Given the description of an element on the screen output the (x, y) to click on. 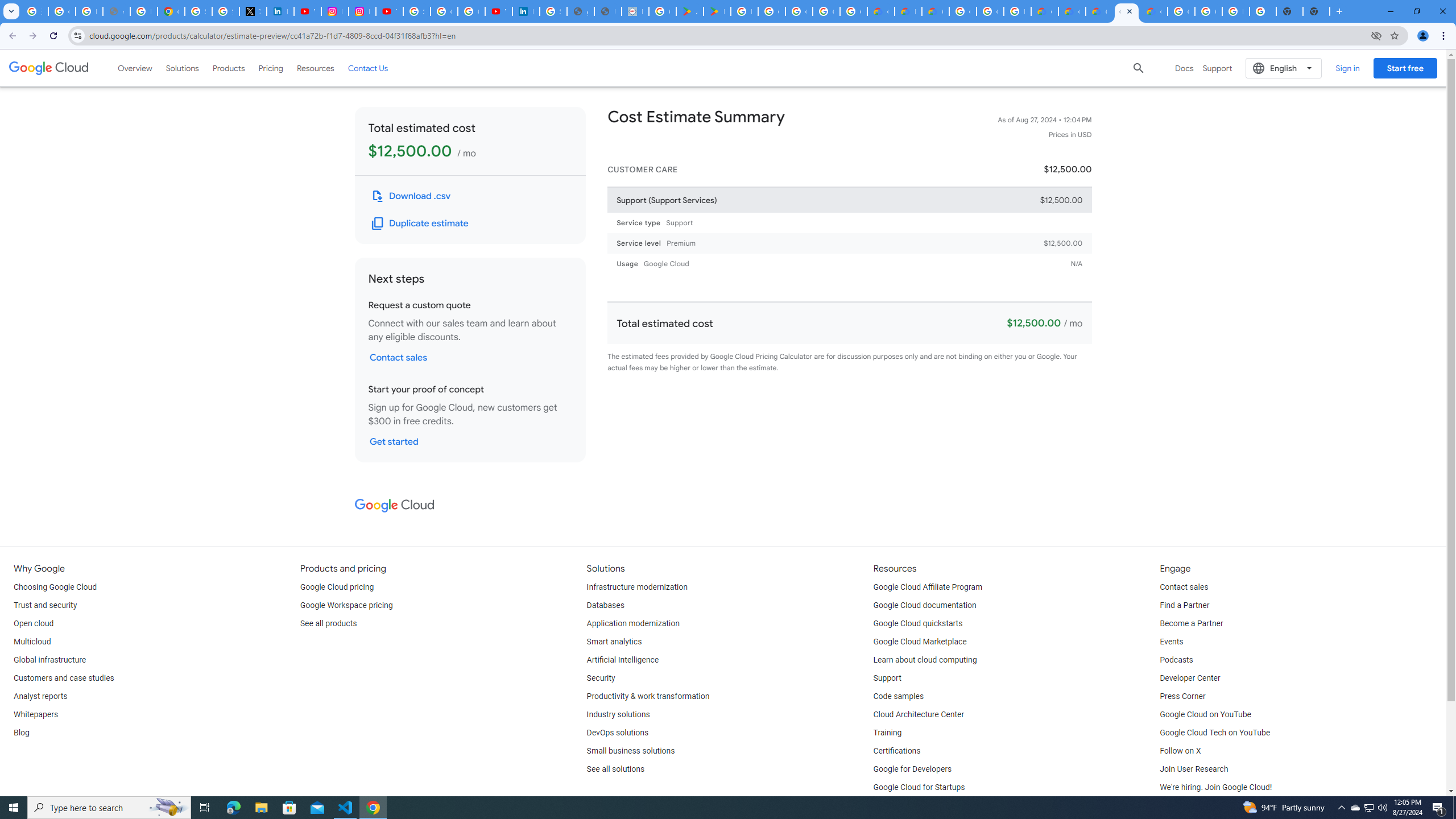
Google Cloud Estimate Summary (1126, 11)
Pricing (270, 67)
Privacy Help Center - Policies Help (144, 11)
Google Workspace - Specific Terms (853, 11)
Find a Partner (1183, 605)
Smart analytics (614, 642)
Google Cloud Pricing Calculator (1071, 11)
Google Cloud Tech on YouTube (1214, 732)
Google Cloud Platform (1180, 11)
Customers and case studies (64, 678)
